Given the description of an element on the screen output the (x, y) to click on. 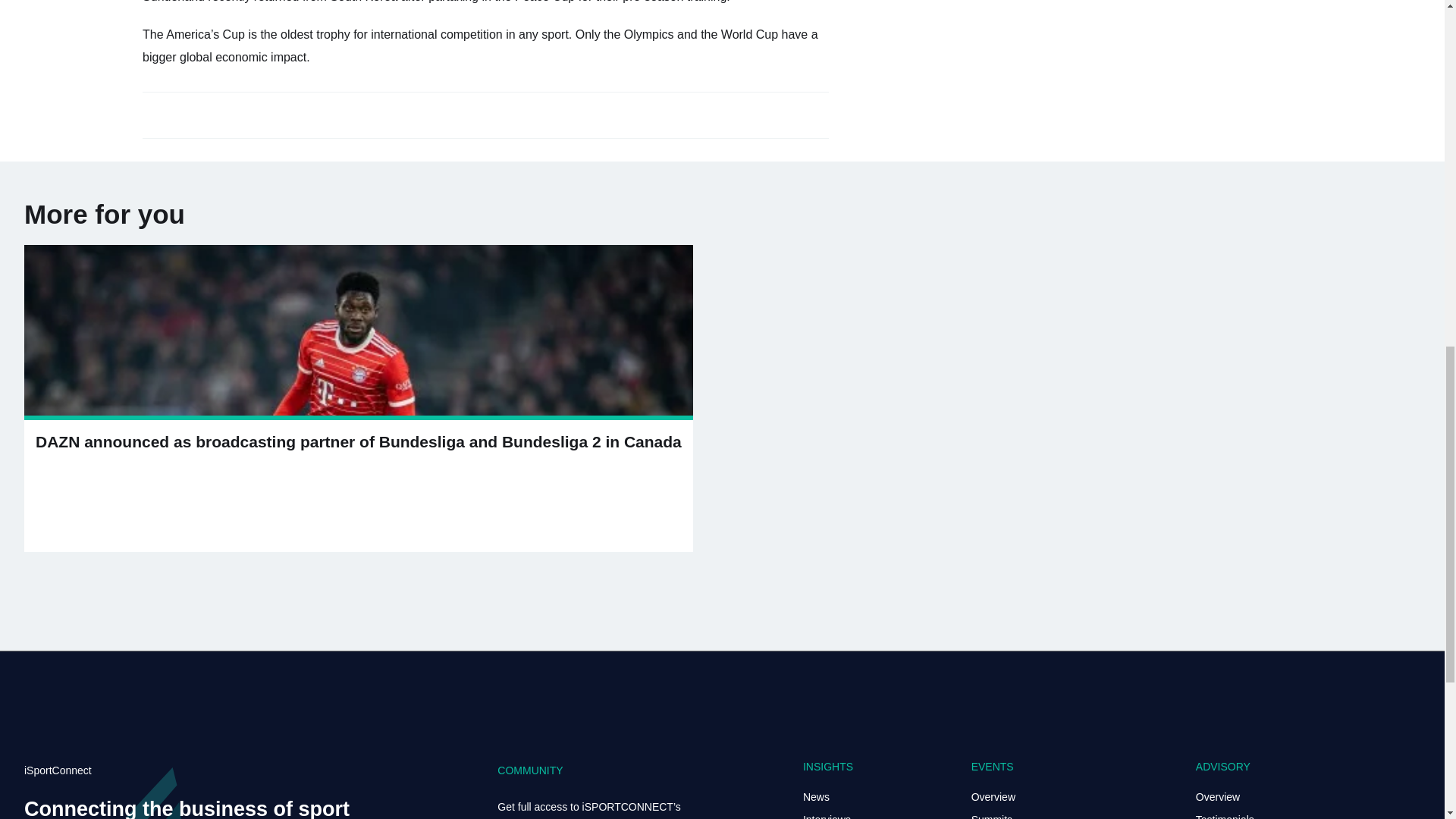
News (816, 797)
INSIGHTS (828, 766)
